Given the description of an element on the screen output the (x, y) to click on. 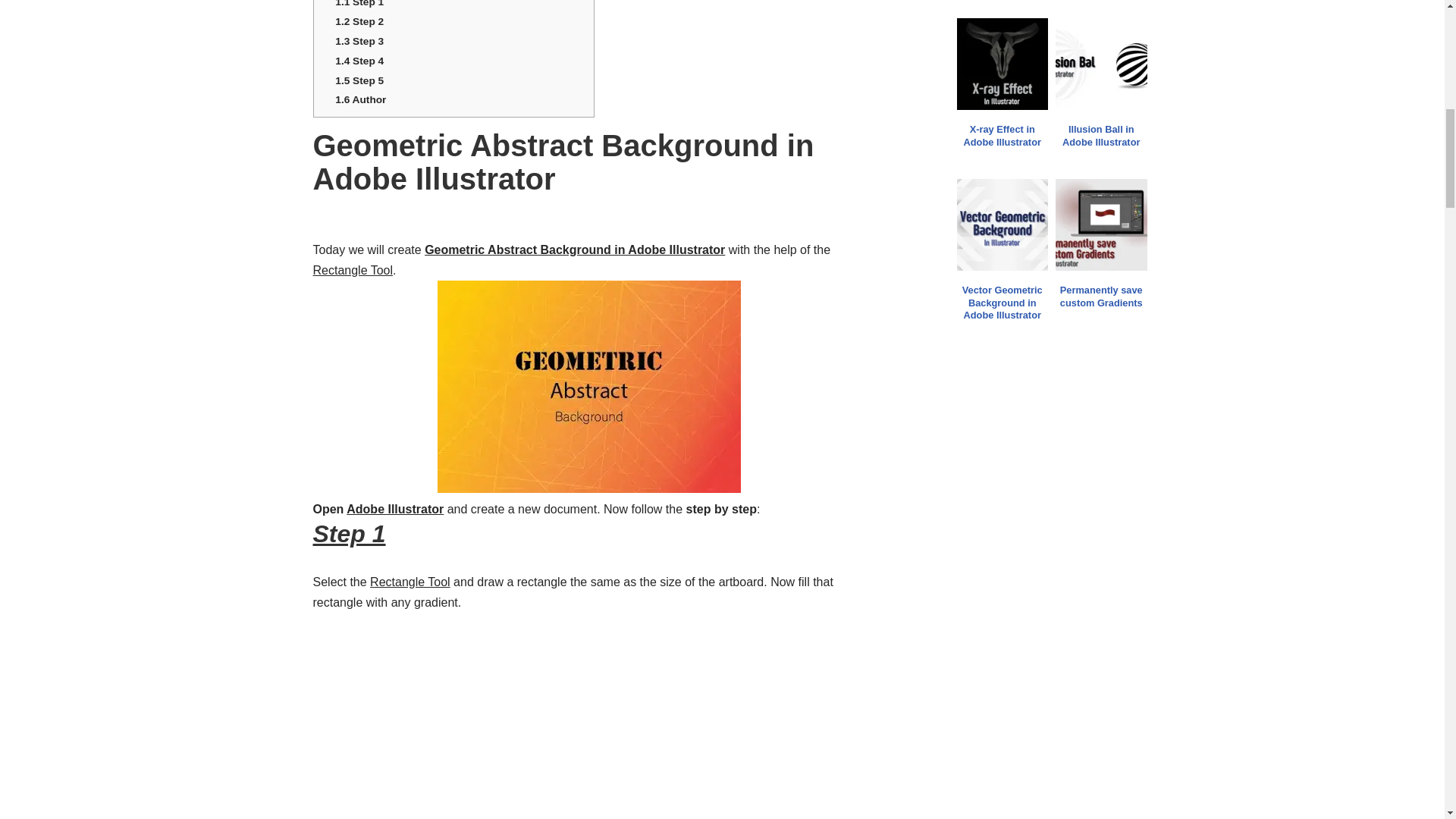
1.1 Step 1 (359, 3)
